Given the description of an element on the screen output the (x, y) to click on. 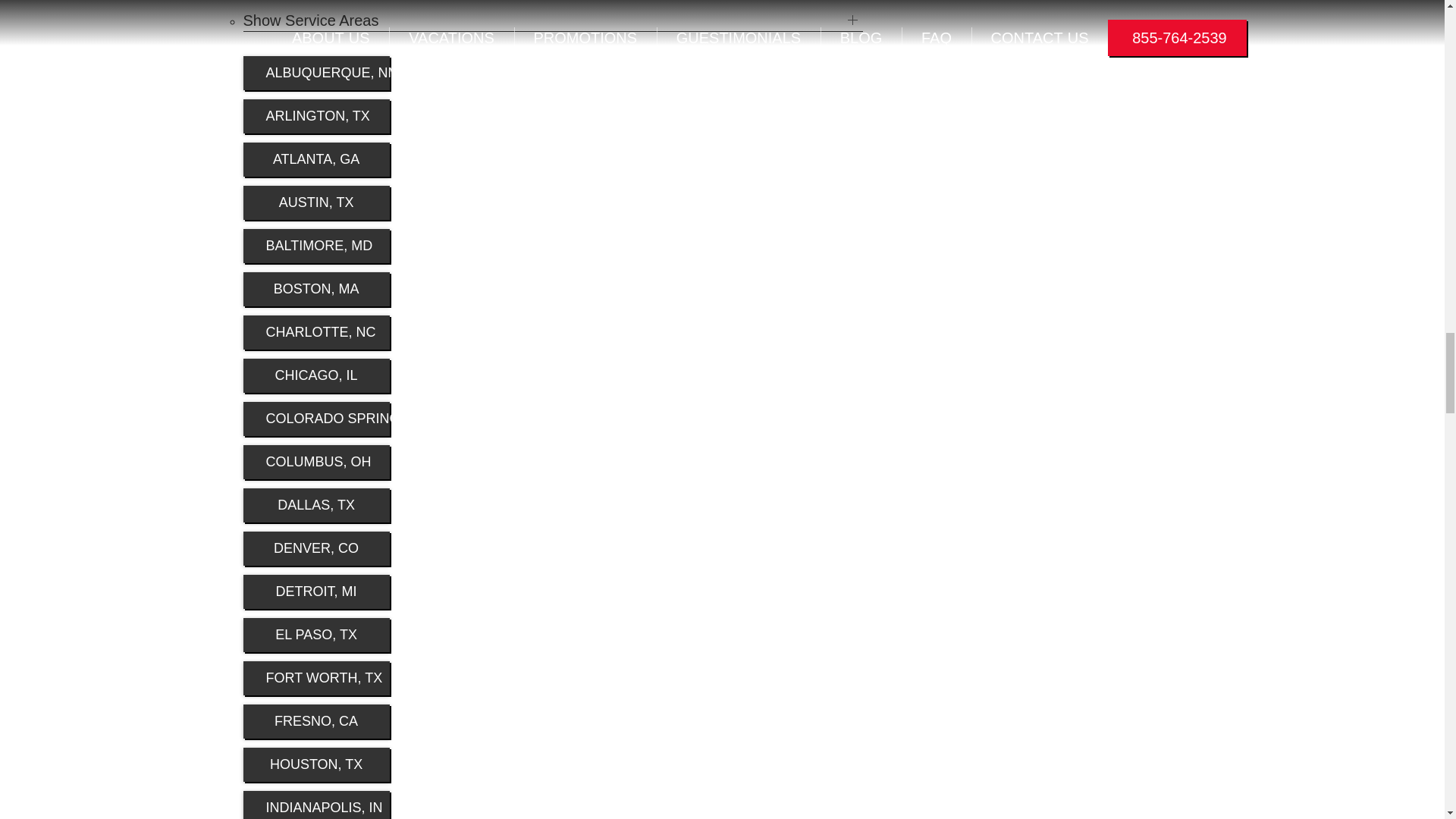
Detroit, MI (315, 591)
Chicago, IL (315, 375)
Atlanta, GA (315, 159)
Baltimore, MD (315, 245)
Colorado Springs, CO (315, 418)
Columbus, OH (315, 462)
Albuquerque, NM (315, 73)
Dallas, TX (315, 505)
Austin, TX (315, 202)
Boston, MA (315, 288)
